Given the description of an element on the screen output the (x, y) to click on. 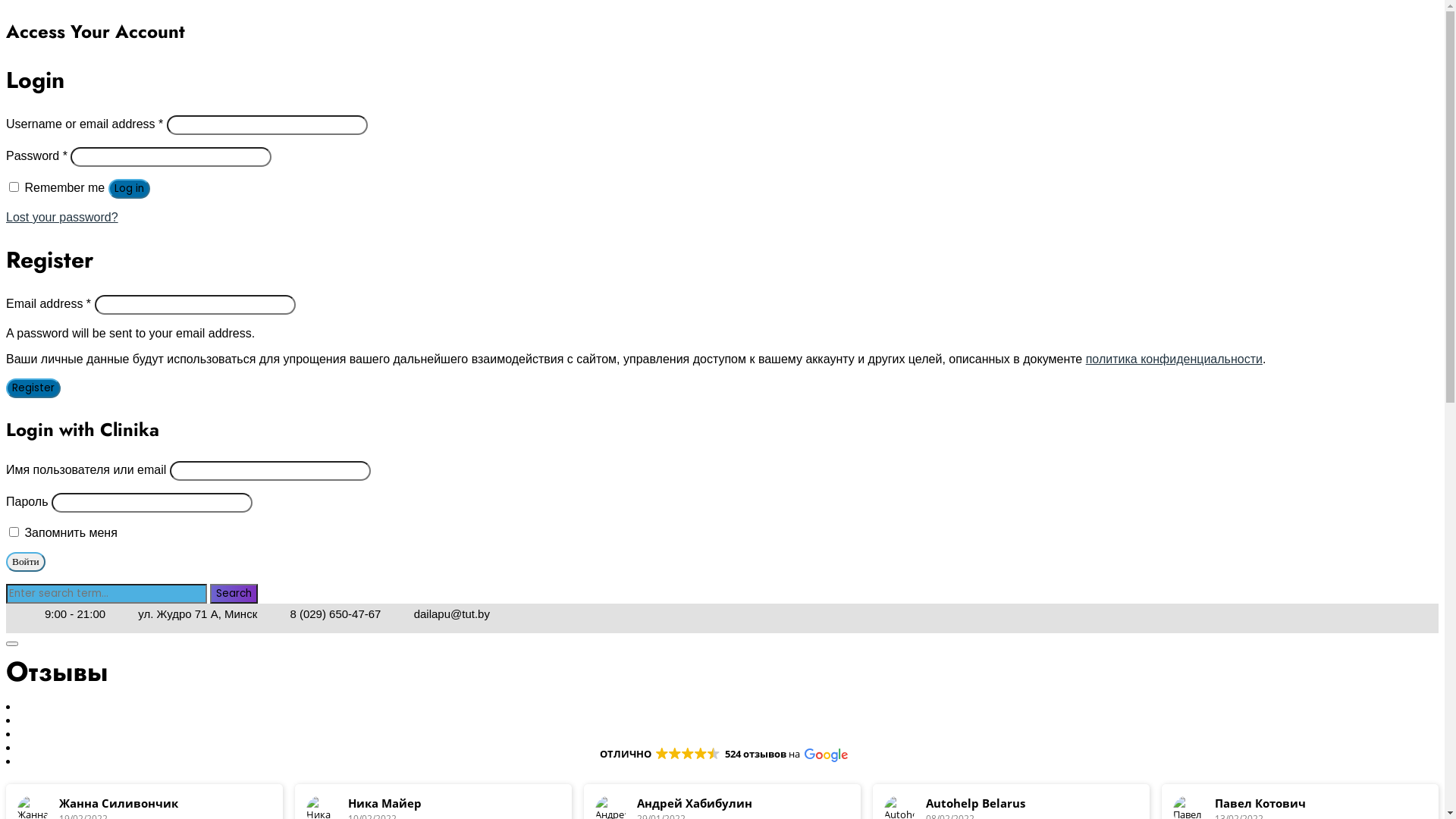
Log in Element type: text (129, 188)
Register Element type: text (33, 388)
Instagramm Element type: hover (24, 613)
Facebook Element type: hover (9, 613)
Lost your password? Element type: text (62, 216)
VK Element type: hover (17, 613)
Search Element type: text (233, 593)
